Given the description of an element on the screen output the (x, y) to click on. 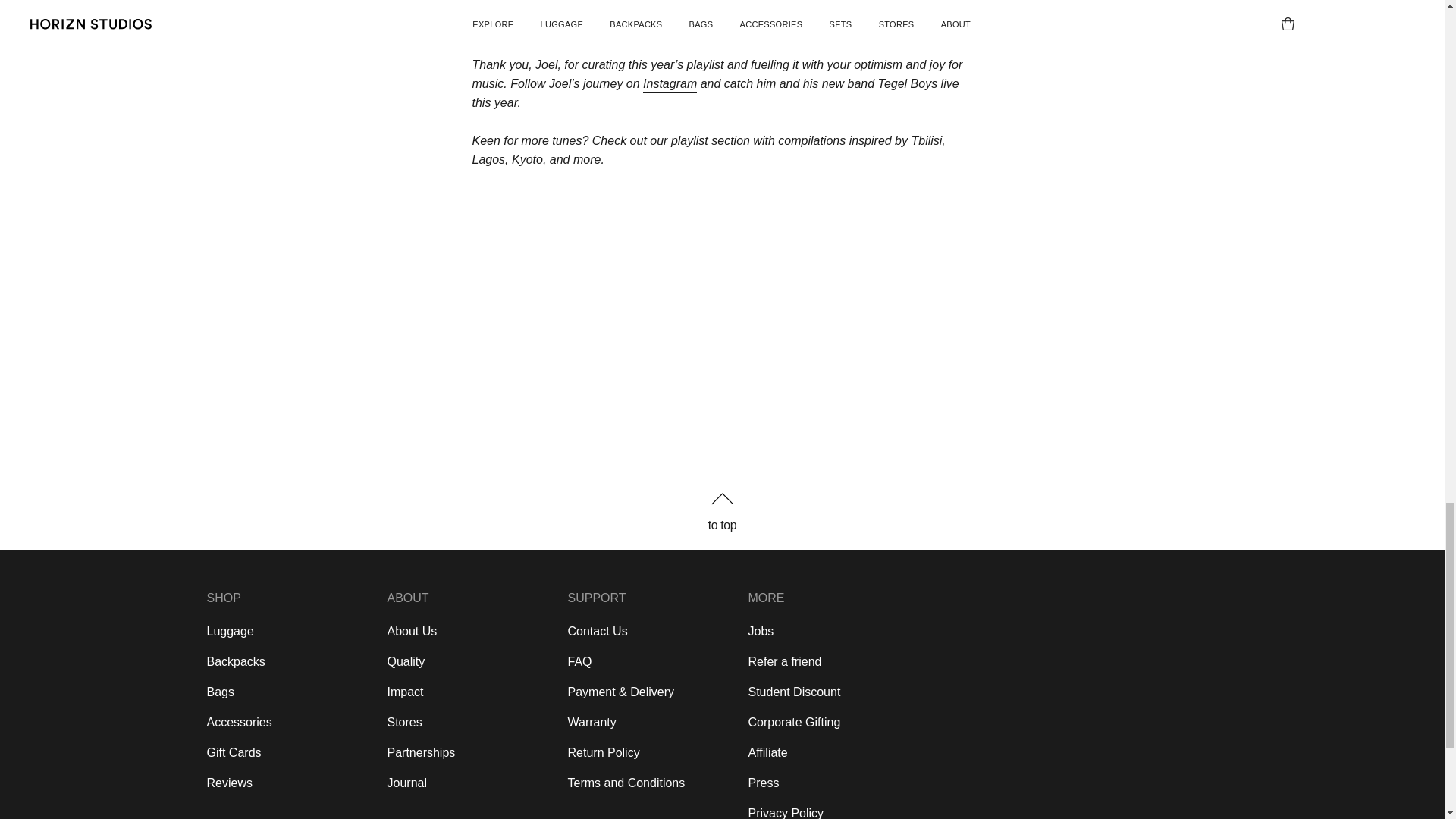
to top (721, 511)
to top (721, 524)
